Given the description of an element on the screen output the (x, y) to click on. 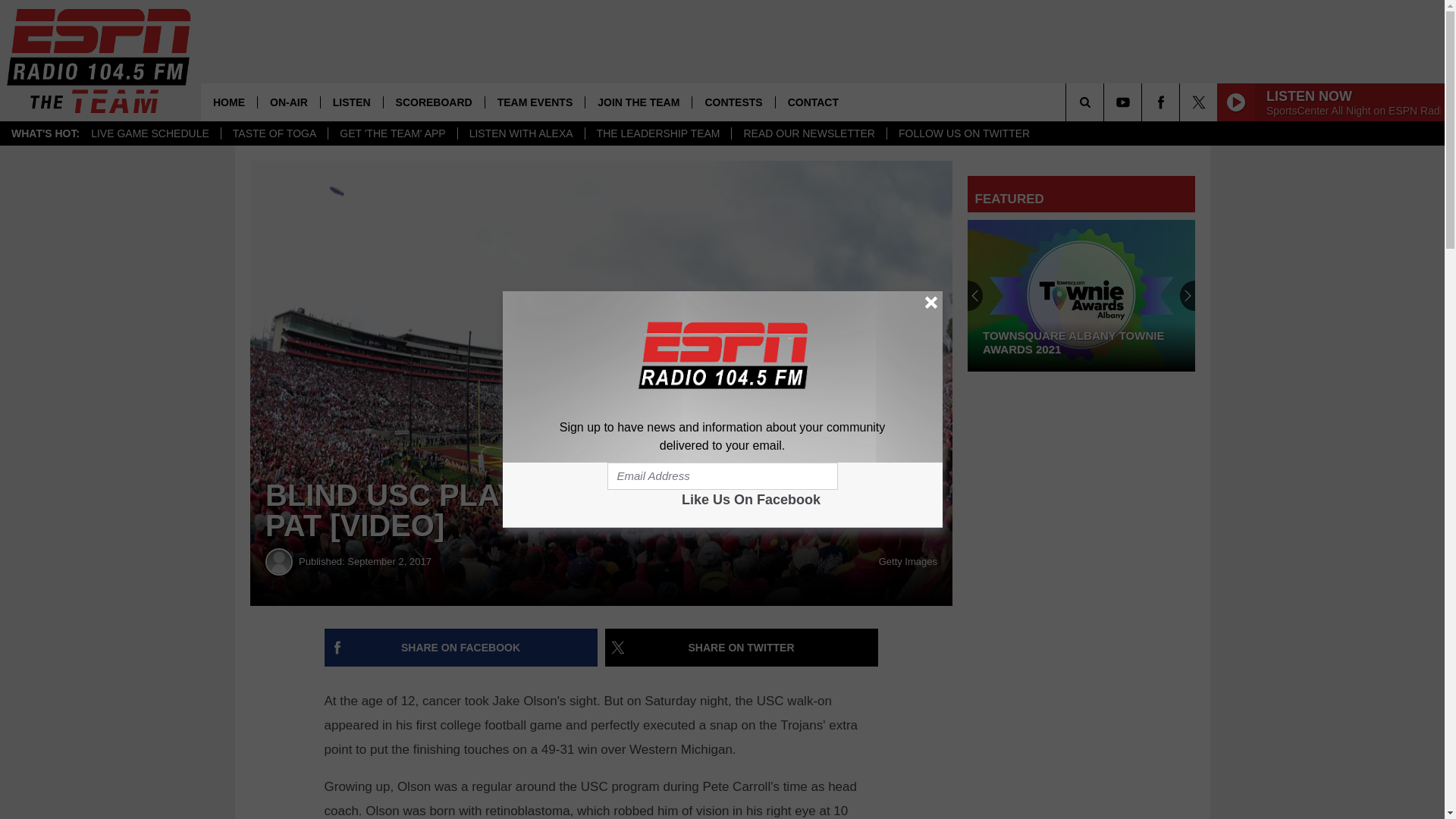
LIVE GAME SCHEDULE (150, 133)
CONTACT (812, 102)
SEARCH (1106, 102)
THE LEADERSHIP TEAM (658, 133)
TEAM EVENTS (534, 102)
JOIN THE TEAM (638, 102)
LISTEN WITH ALEXA (521, 133)
CONTESTS (732, 102)
SEARCH (1106, 102)
TASTE OF TOGA (274, 133)
GET 'THE TEAM' APP (392, 133)
FOLLOW US ON TWITTER (963, 133)
LISTEN (351, 102)
Share on Twitter (741, 647)
SCOREBOARD (433, 102)
